Given the description of an element on the screen output the (x, y) to click on. 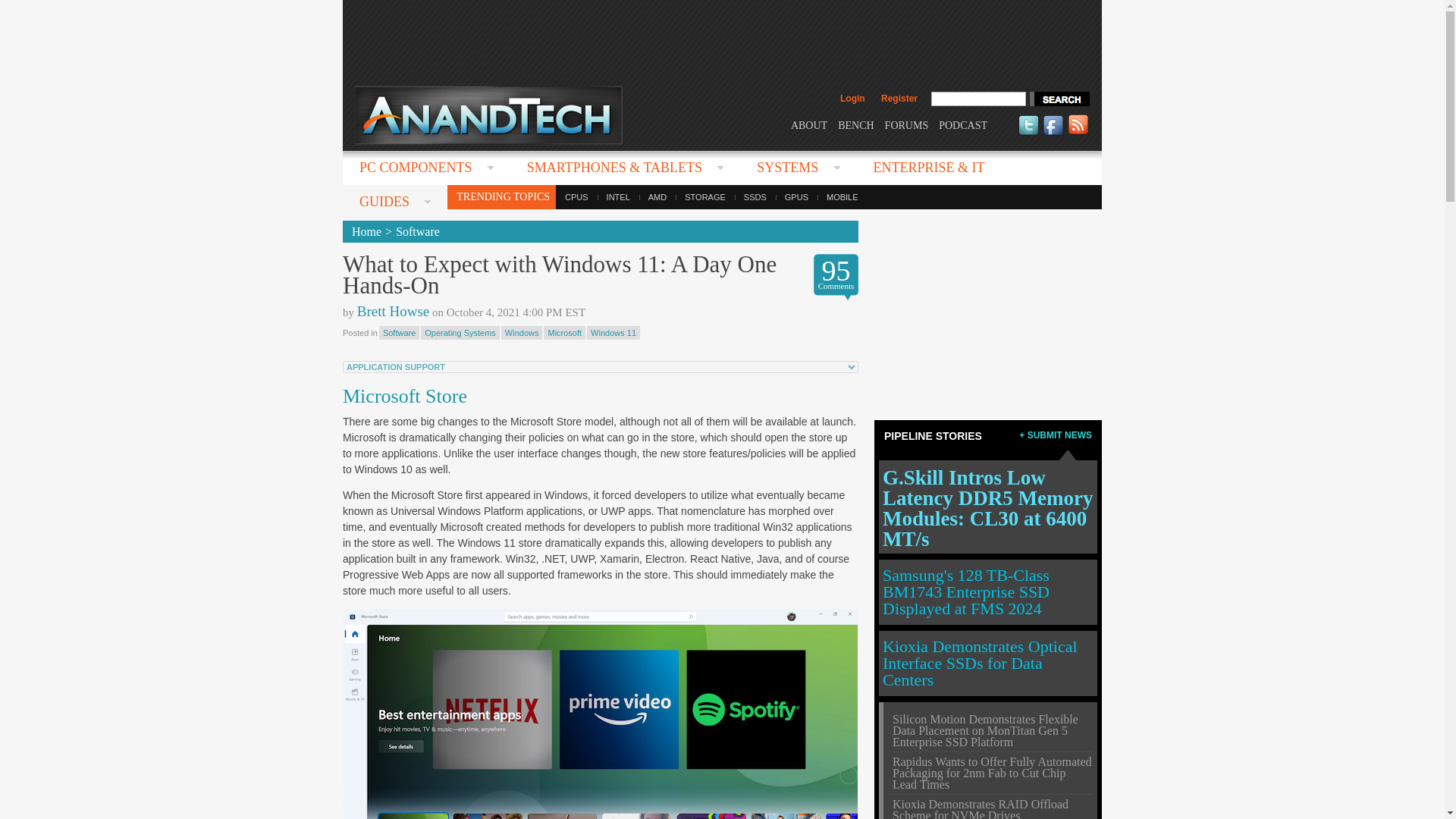
PODCAST (963, 125)
BENCH (855, 125)
search (1059, 98)
search (1059, 98)
FORUMS (906, 125)
ABOUT (808, 125)
Register (898, 98)
Login (852, 98)
search (1059, 98)
